Given the description of an element on the screen output the (x, y) to click on. 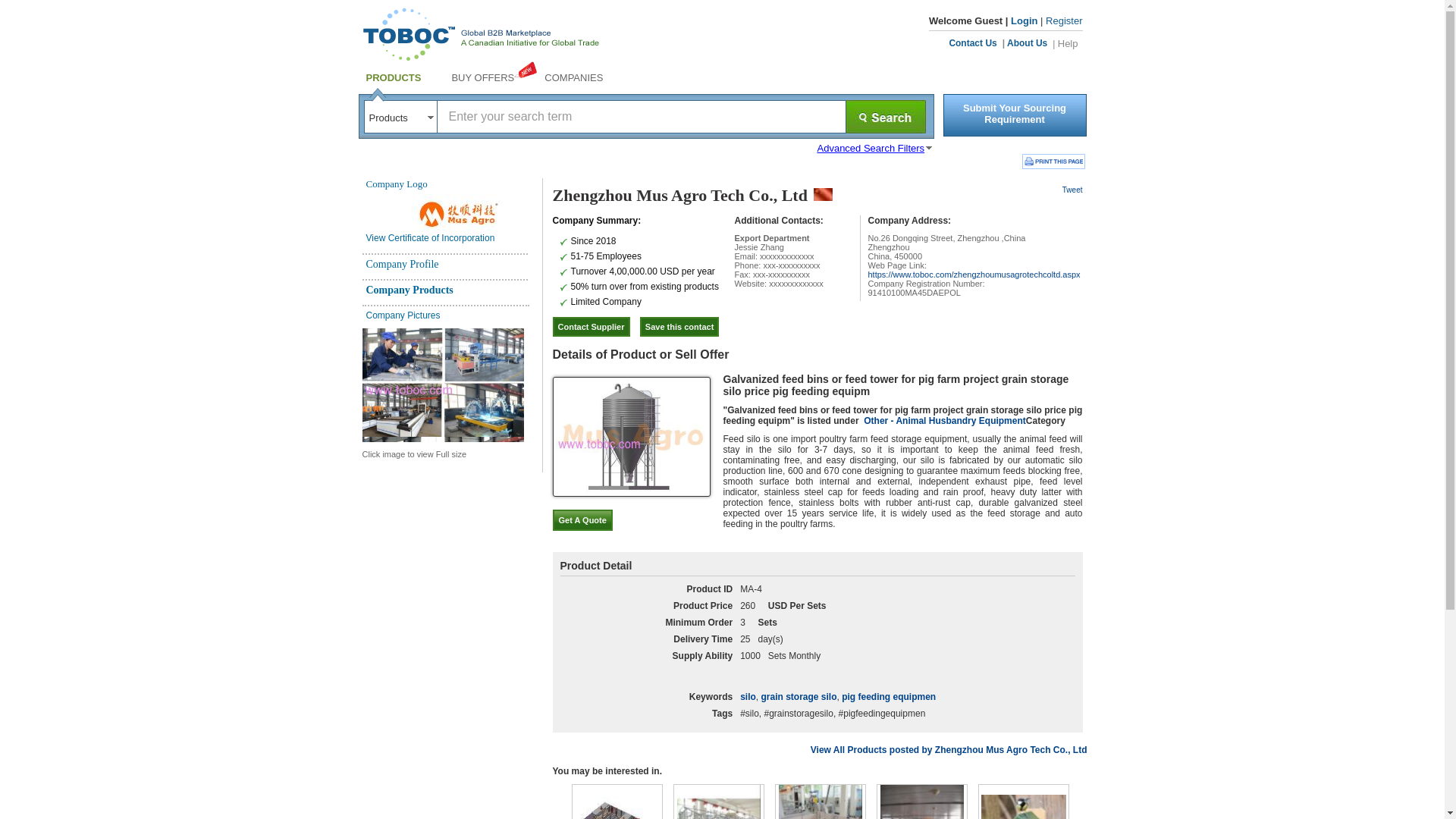
silo (747, 696)
PRODUCTS (392, 77)
Products (400, 117)
Zhengzhou Mus Agro Tech Co., Ltd (678, 194)
Contact Supplier (589, 326)
About Us (1026, 42)
View Certificate of Incorporation (430, 237)
BUY OFFERS (482, 77)
Login (1023, 20)
Save this contact (679, 326)
